Given the description of an element on the screen output the (x, y) to click on. 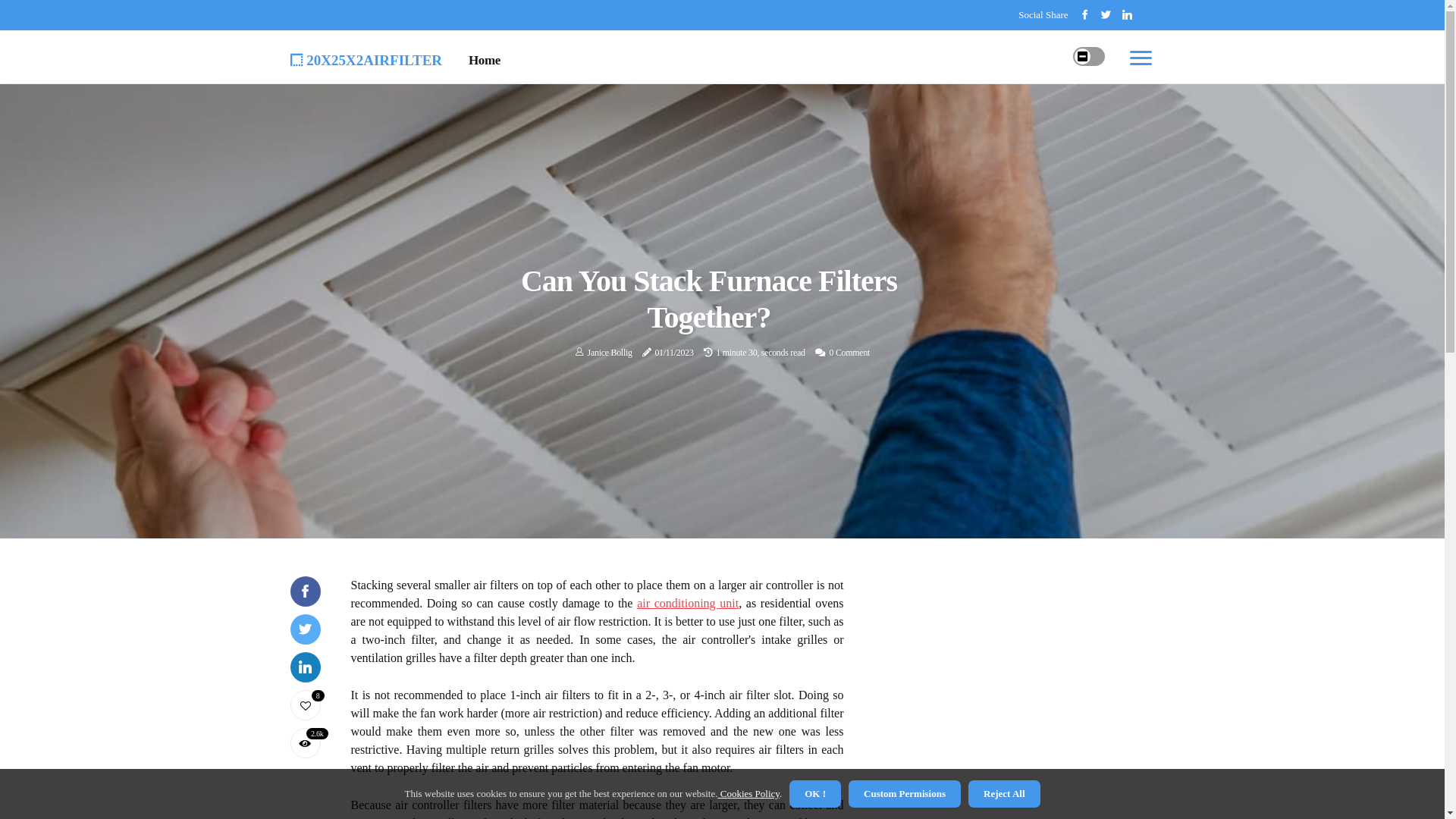
8 Element type: text (304, 705)
20x25x2airfilter Element type: text (365, 57)
0 Comment Element type: text (848, 352)
air conditioning unit Element type: text (687, 602)
Cookies Policy Element type: text (748, 793)
Janice Bollig Element type: text (609, 352)
Home Element type: text (484, 60)
